Given the description of an element on the screen output the (x, y) to click on. 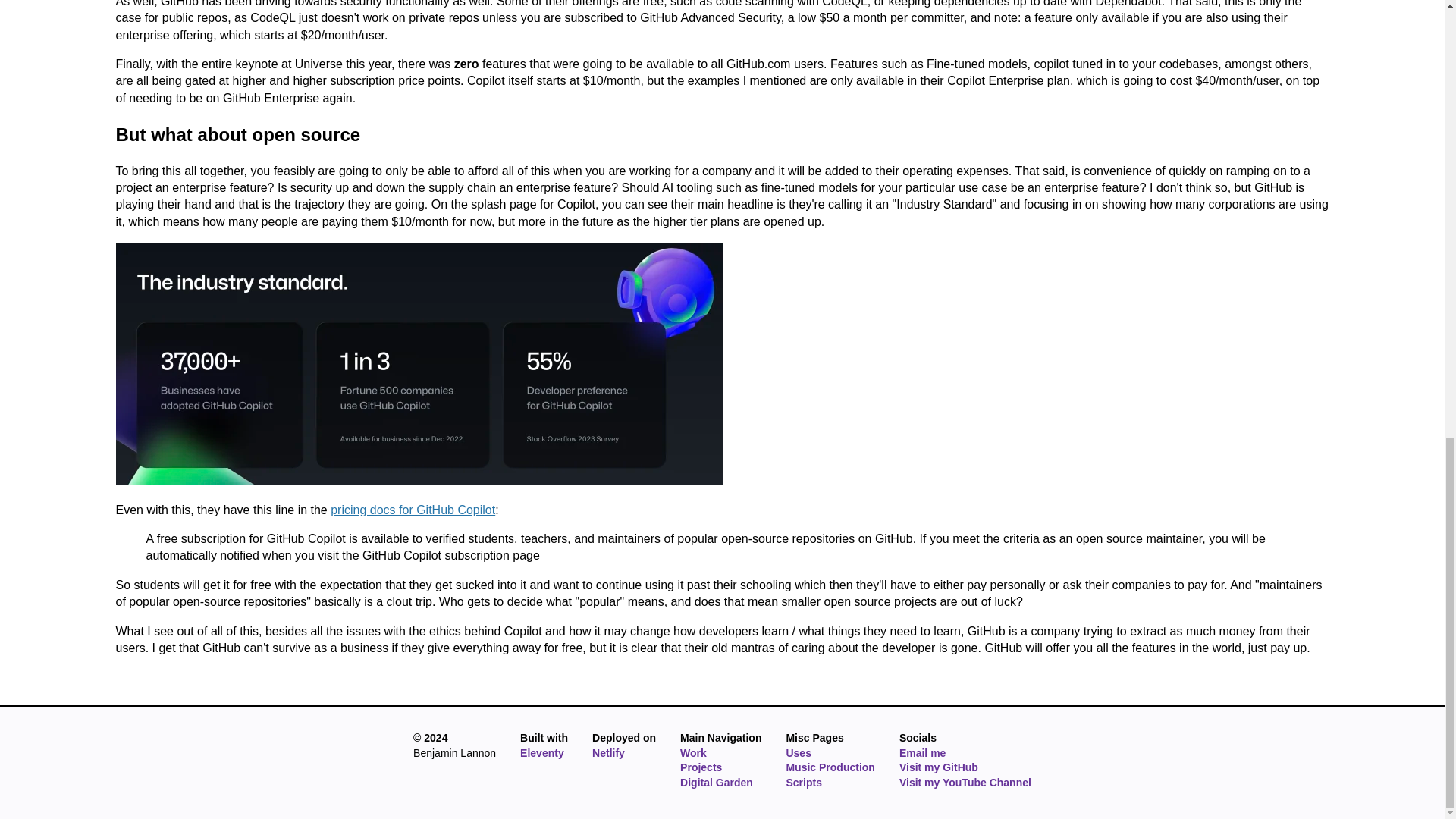
Netlify (608, 752)
Visit my GitHub (964, 767)
Scripts (830, 783)
Music Production (830, 767)
pricing docs for GitHub Copilot (412, 509)
Email me (964, 753)
Uses (830, 753)
Visit my YouTube Channel (964, 783)
Eleventy (541, 752)
Work (720, 753)
Digital Garden (720, 783)
Projects (720, 767)
